Given the description of an element on the screen output the (x, y) to click on. 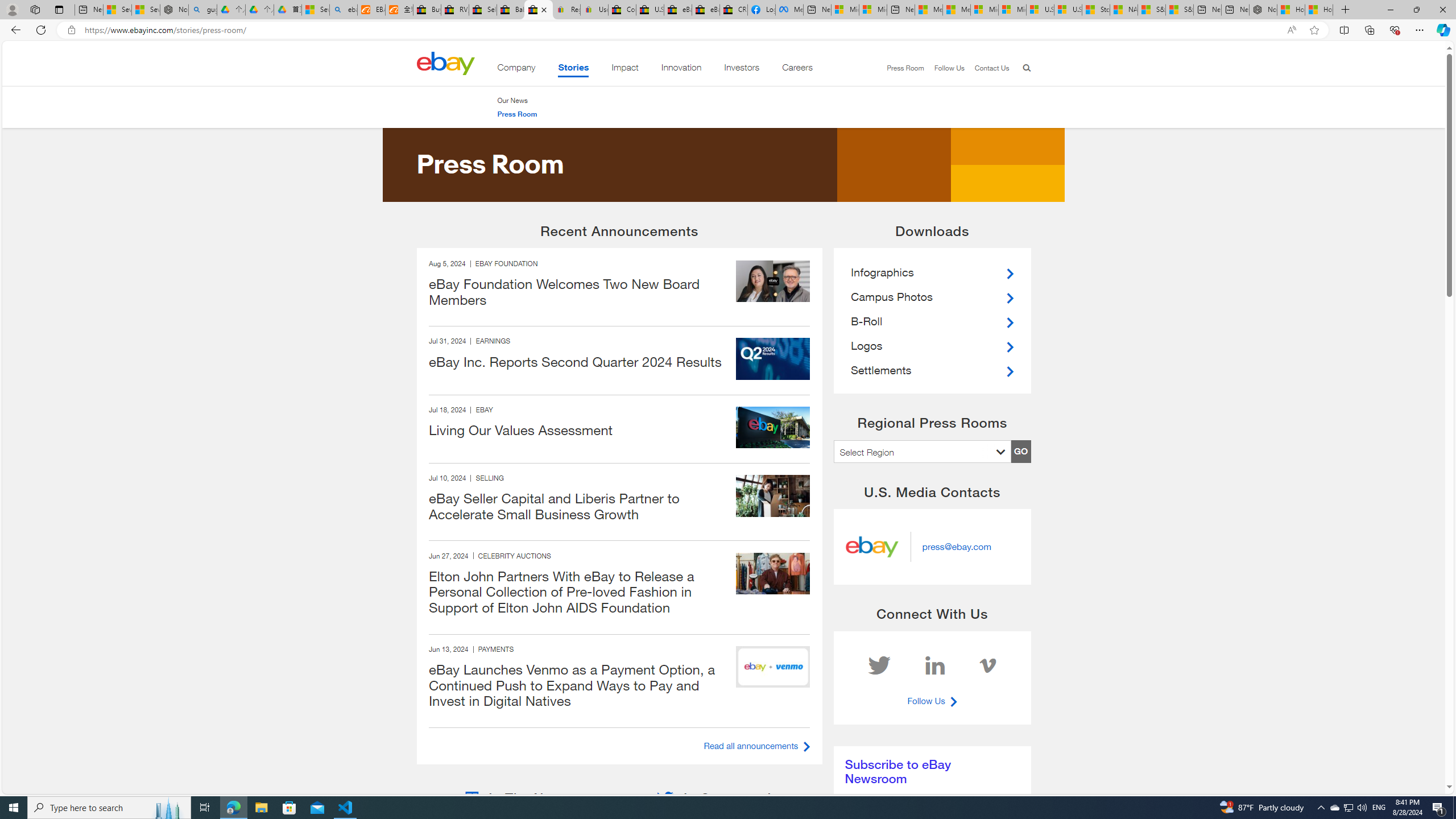
Send email to press@ebay.com (956, 546)
Our News (511, 99)
Impact (625, 69)
Contact Us (991, 67)
Innovation (681, 69)
User Privacy Notice | eBay (593, 9)
guge yunpan - Search (202, 9)
Press Room (516, 113)
Home (445, 63)
